Given the description of an element on the screen output the (x, y) to click on. 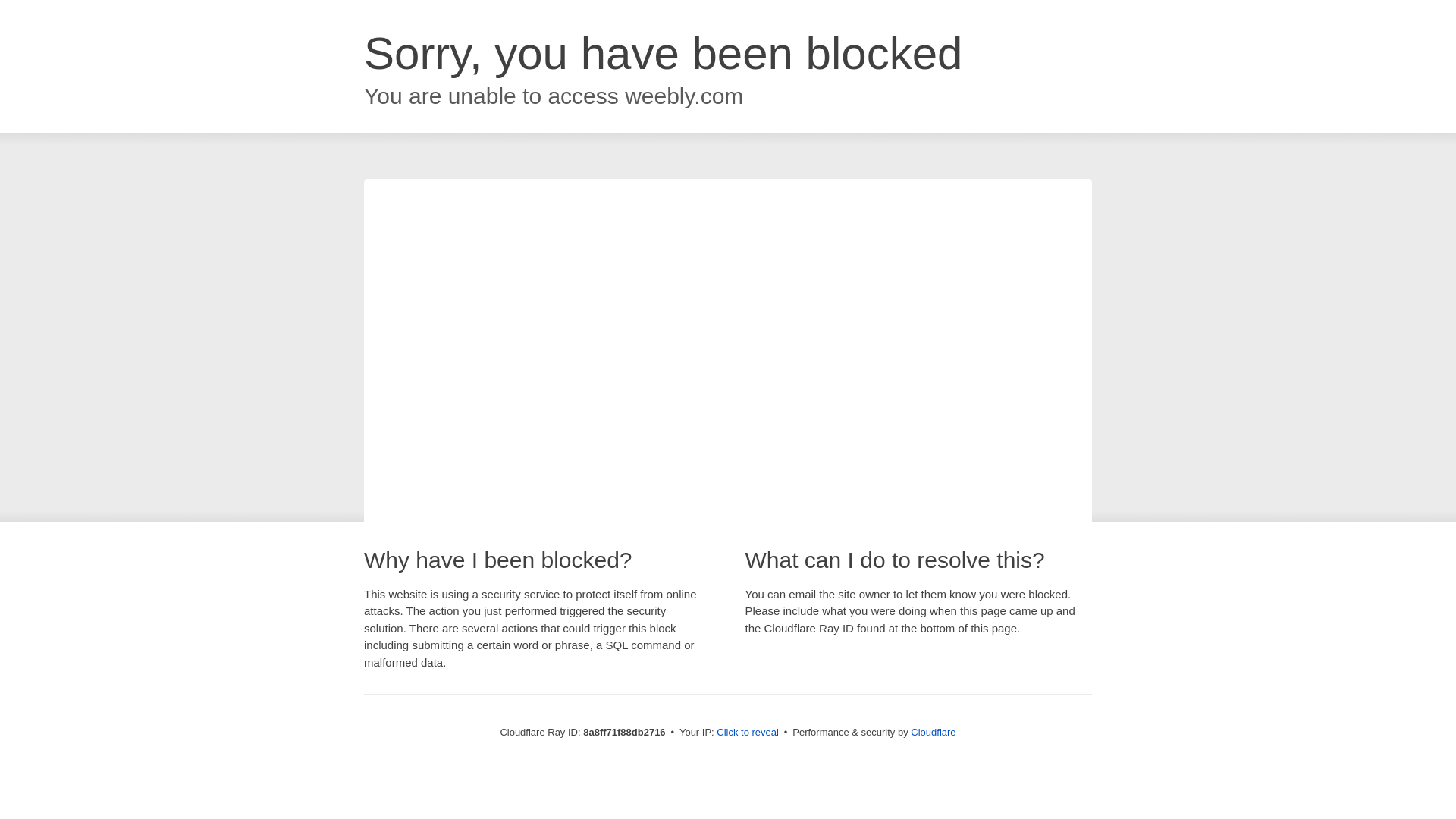
Click to reveal (747, 732)
Cloudflare (933, 731)
